Given the description of an element on the screen output the (x, y) to click on. 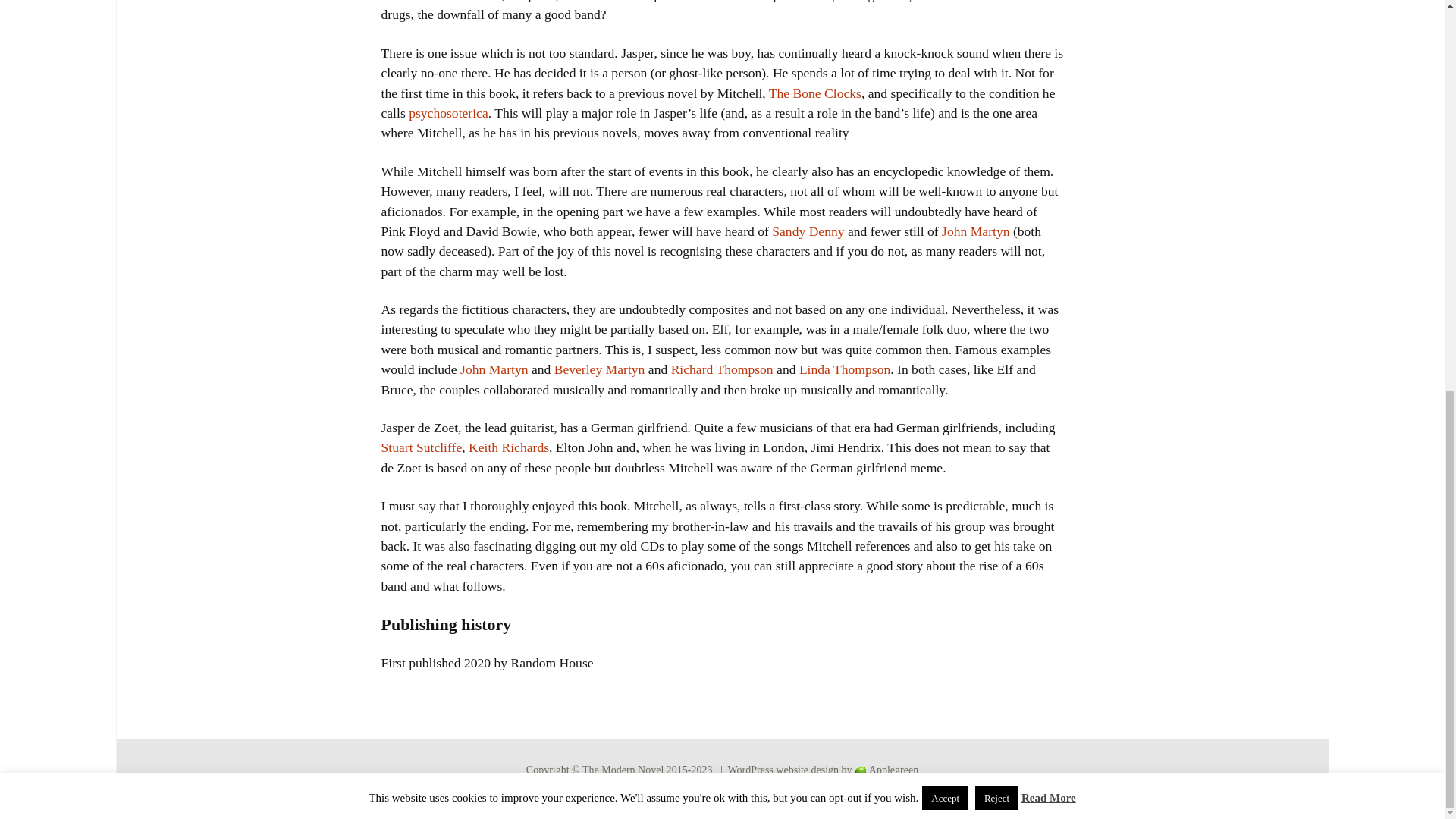
The Bone Clocks (814, 92)
